Given the description of an element on the screen output the (x, y) to click on. 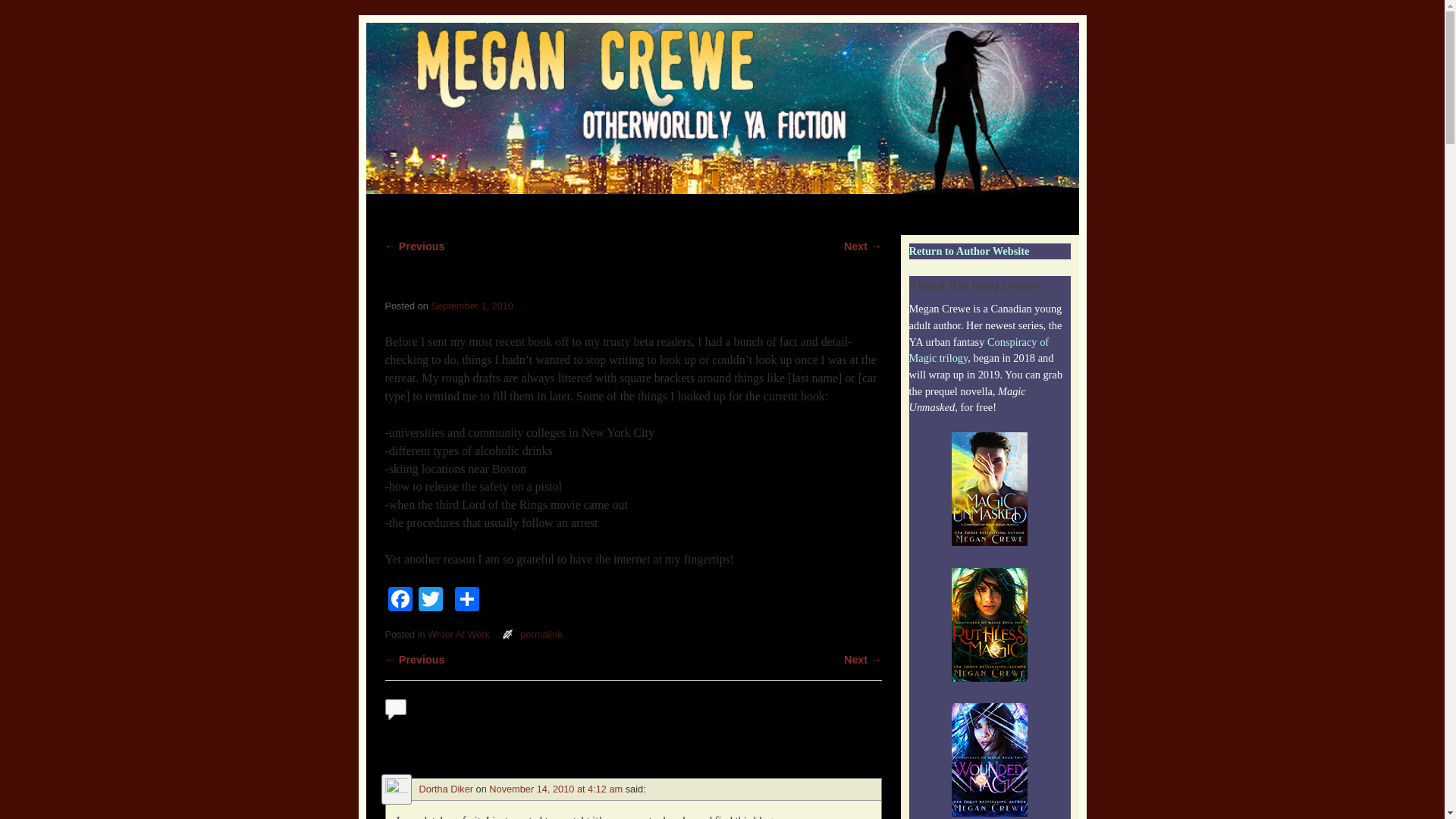
Conspiracy of Magic trilogy (978, 349)
Twitter (429, 601)
Permalink to The little bits and pieces that make up a book (540, 633)
Dortha Diker (446, 788)
Return to Author Website (968, 250)
Facebook (399, 601)
Facebook (399, 601)
November 14, 2010 at 4:12 am (556, 788)
Twitter (429, 601)
Writer At Work (458, 633)
permalink (540, 633)
10:23 am (471, 306)
YA Author Megan Crewe (721, 108)
September 1, 2010 (471, 306)
Share (466, 601)
